Given the description of an element on the screen output the (x, y) to click on. 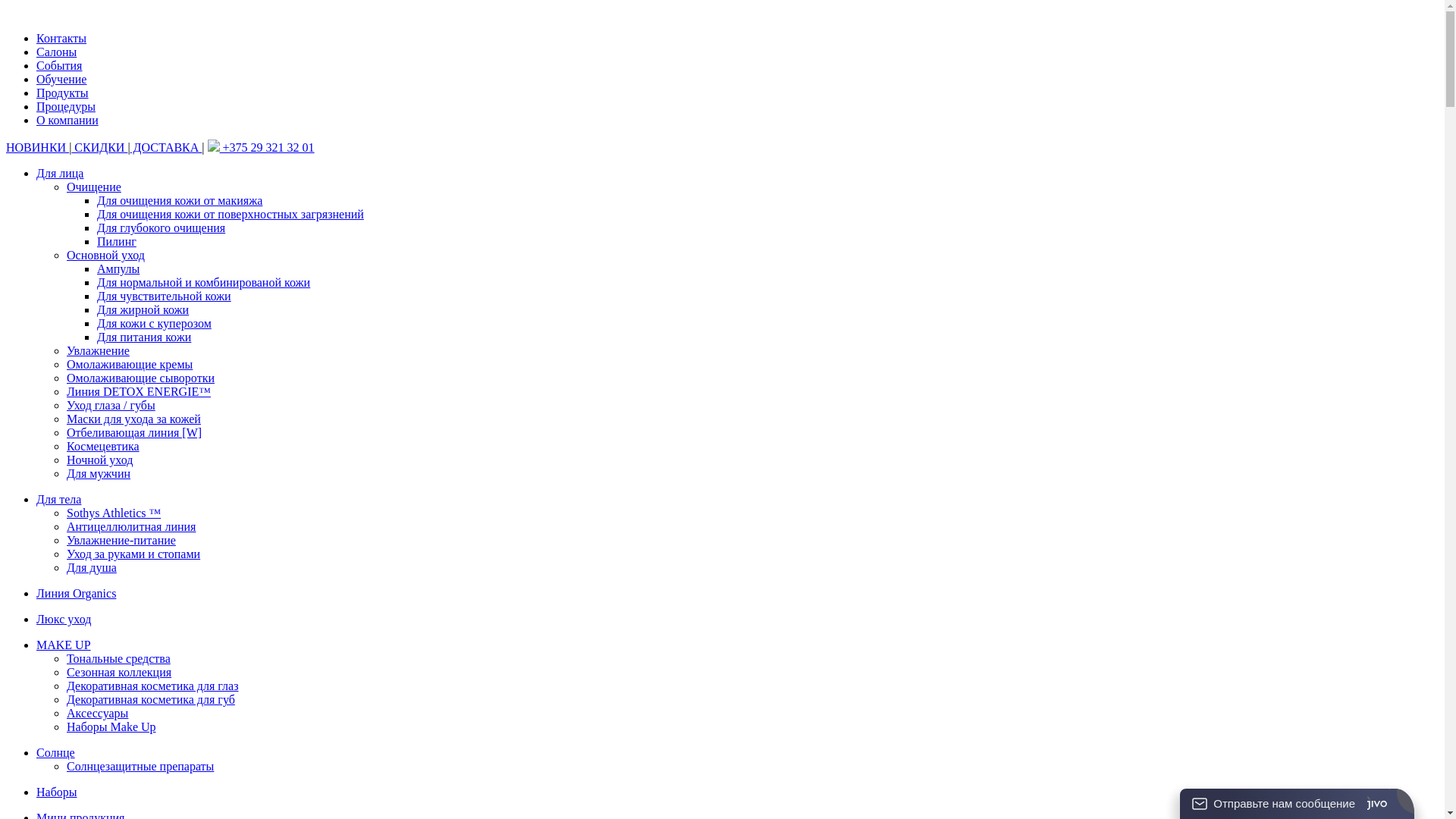
MAKE UP Element type: text (63, 644)
+375 29 321 32 01 Element type: text (260, 147)
